Given the description of an element on the screen output the (x, y) to click on. 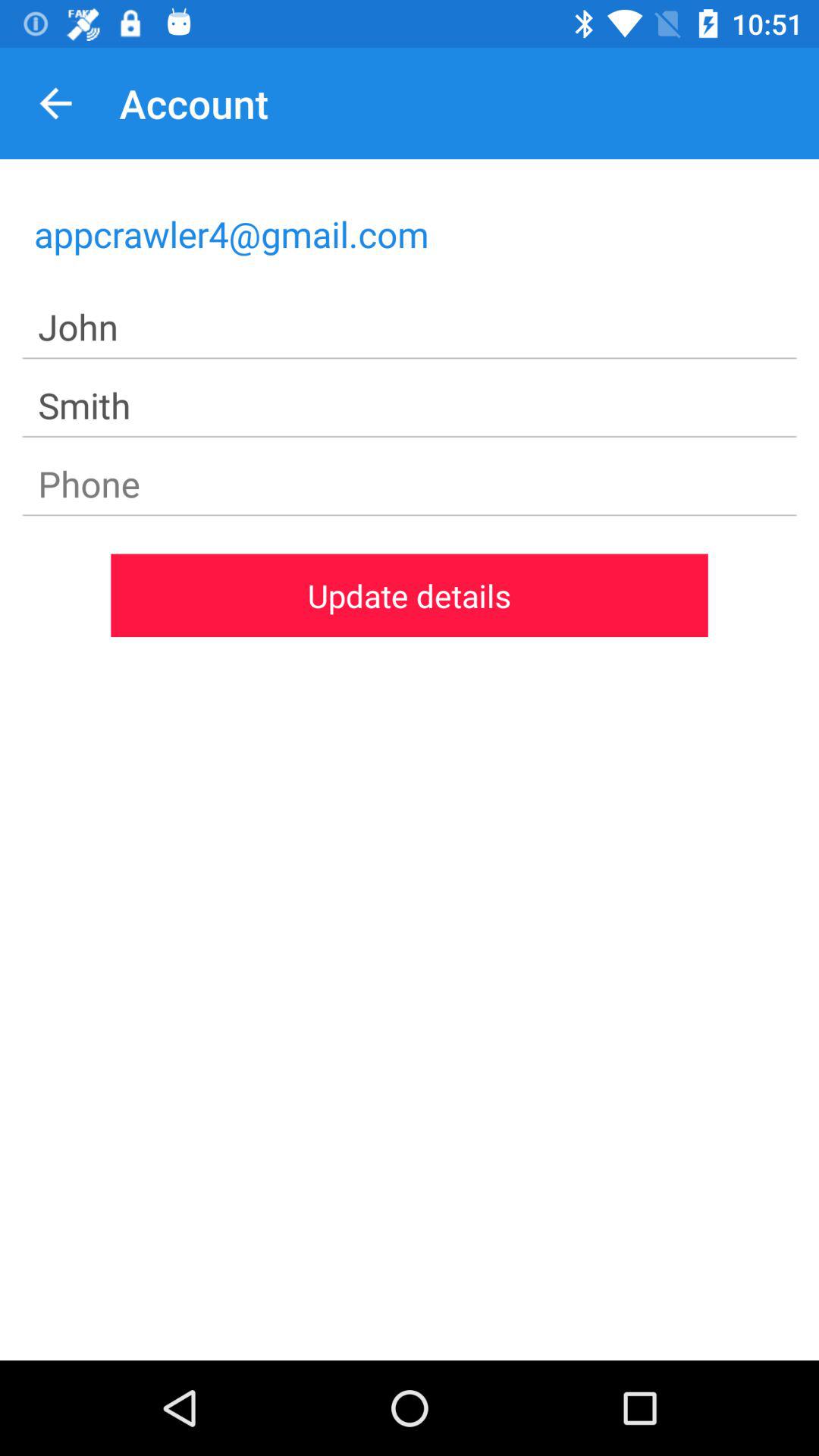
flip until the john icon (409, 327)
